Given the description of an element on the screen output the (x, y) to click on. 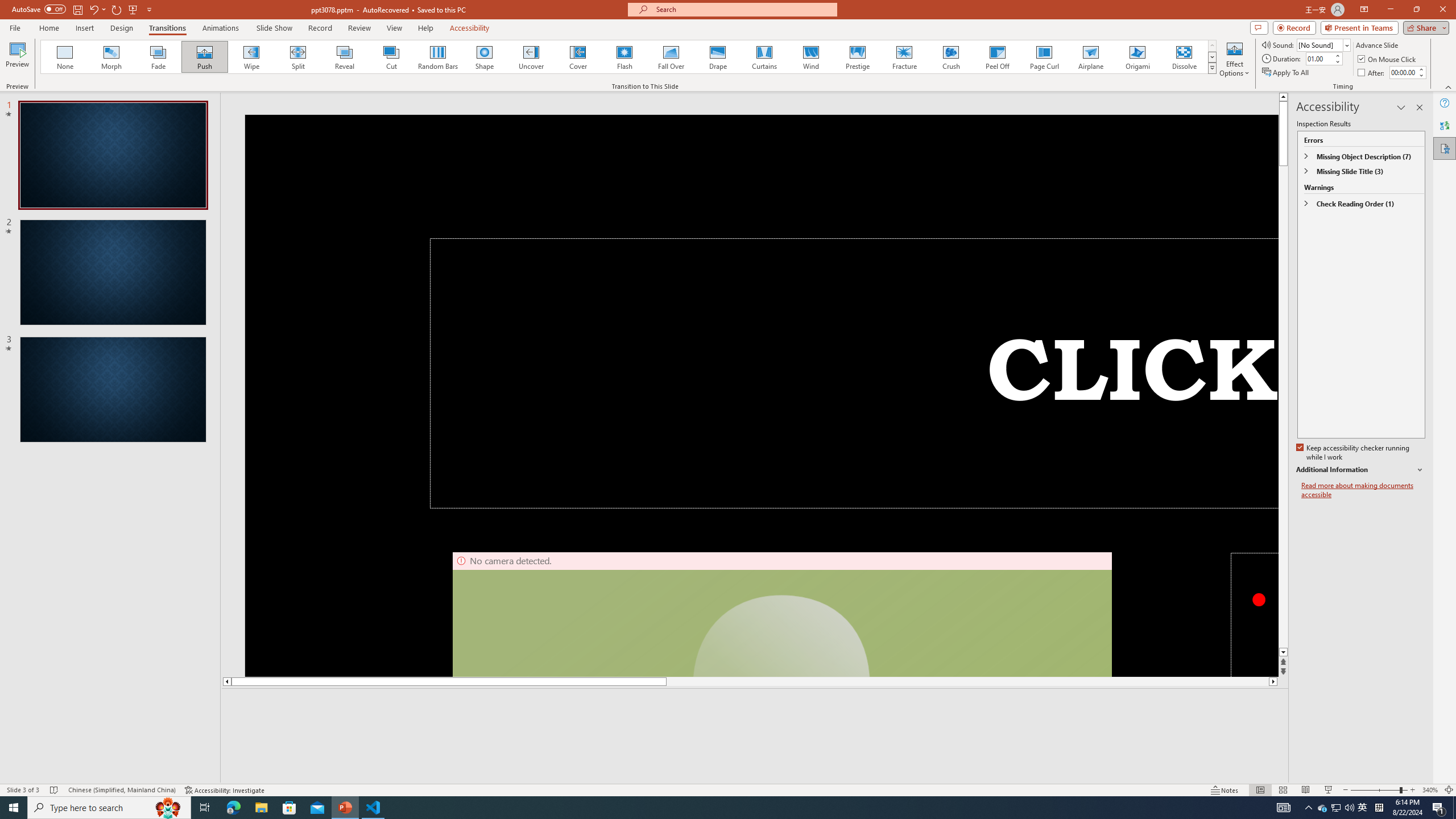
Cut (391, 56)
Shape (484, 56)
Class: MsoCommandBar (728, 789)
Less (1420, 75)
Fade (158, 56)
